Given the description of an element on the screen output the (x, y) to click on. 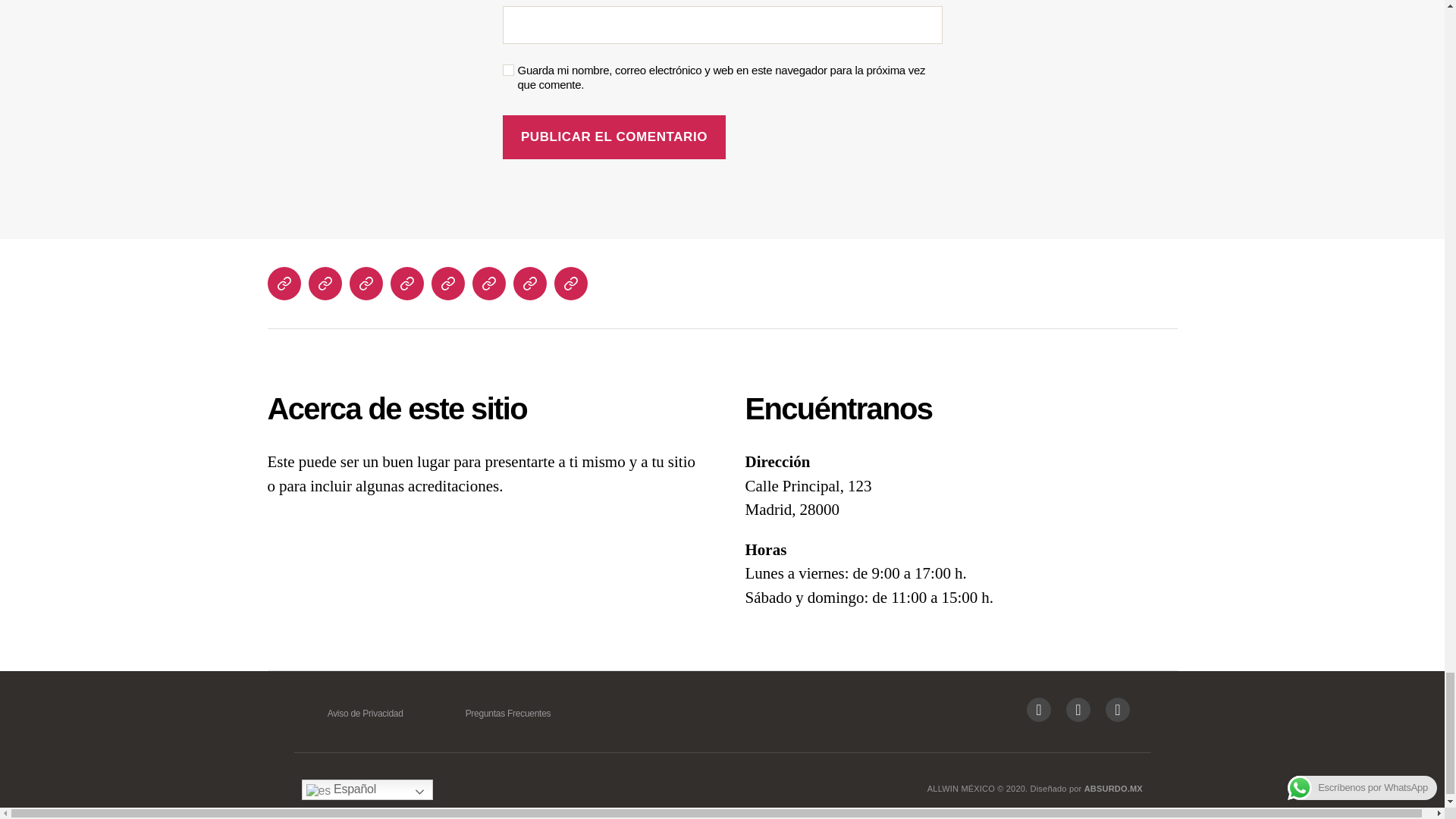
Publicar el comentario (613, 137)
yes (507, 70)
